Given the description of an element on the screen output the (x, y) to click on. 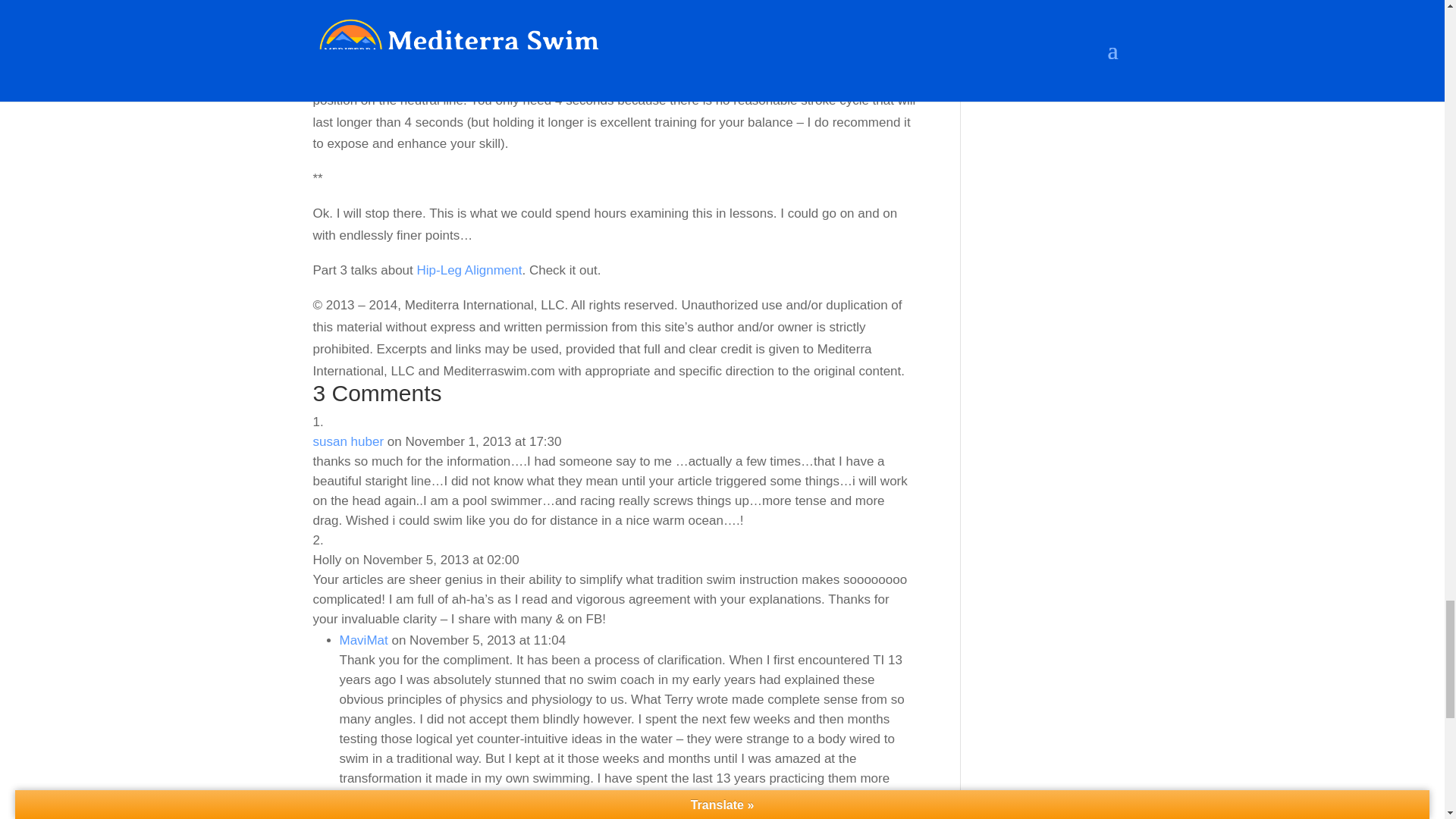
susan huber (348, 441)
Hip-Leg Alignment (469, 269)
Hip-Leg Alignment (469, 269)
MaviMat (363, 640)
